Given the description of an element on the screen output the (x, y) to click on. 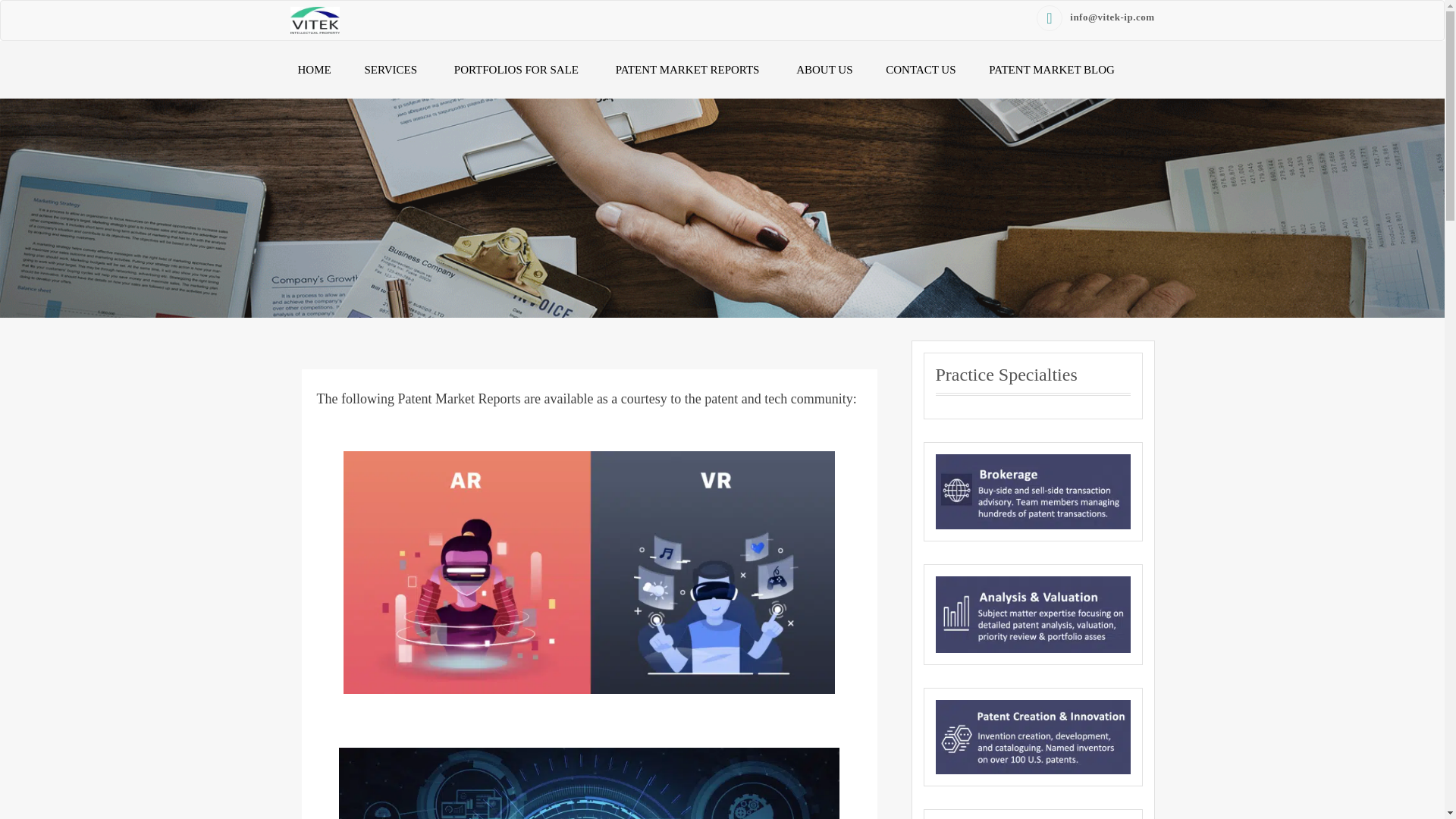
HOME (314, 69)
PATENT MARKET REPORTS (688, 69)
PORTFOLIOS FOR SALE (517, 69)
ABOUT US (823, 69)
SERVICES (392, 69)
